Given the description of an element on the screen output the (x, y) to click on. 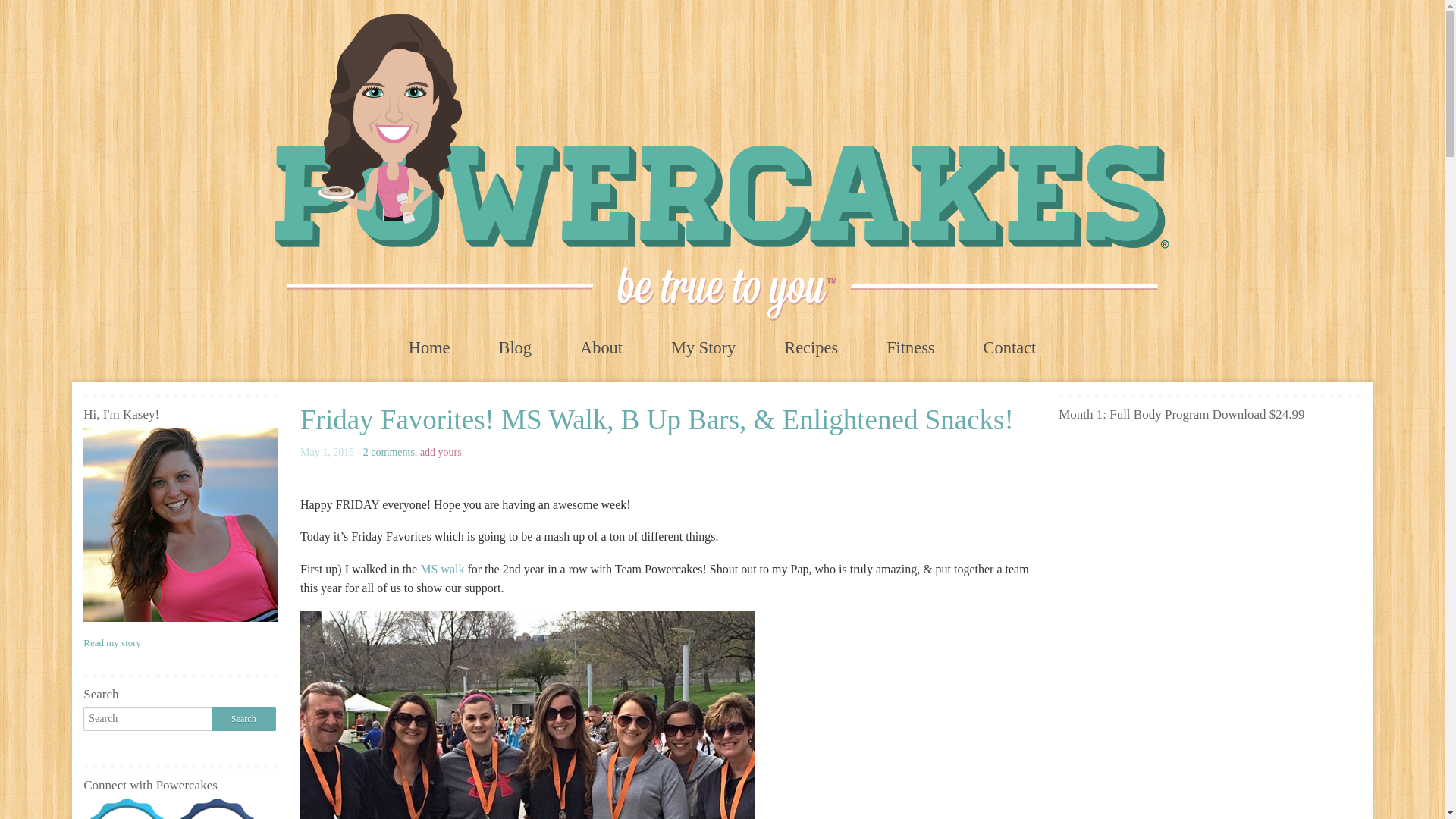
Recipes (810, 347)
Search (243, 718)
Home (429, 347)
Contact (1009, 347)
Read my story (111, 642)
Search (243, 718)
Blog (515, 347)
Fitness (909, 347)
add yours (440, 451)
My Story (702, 347)
Contact (1009, 347)
My Story (702, 347)
MS walk (443, 568)
About (601, 347)
About (601, 347)
